Given the description of an element on the screen output the (x, y) to click on. 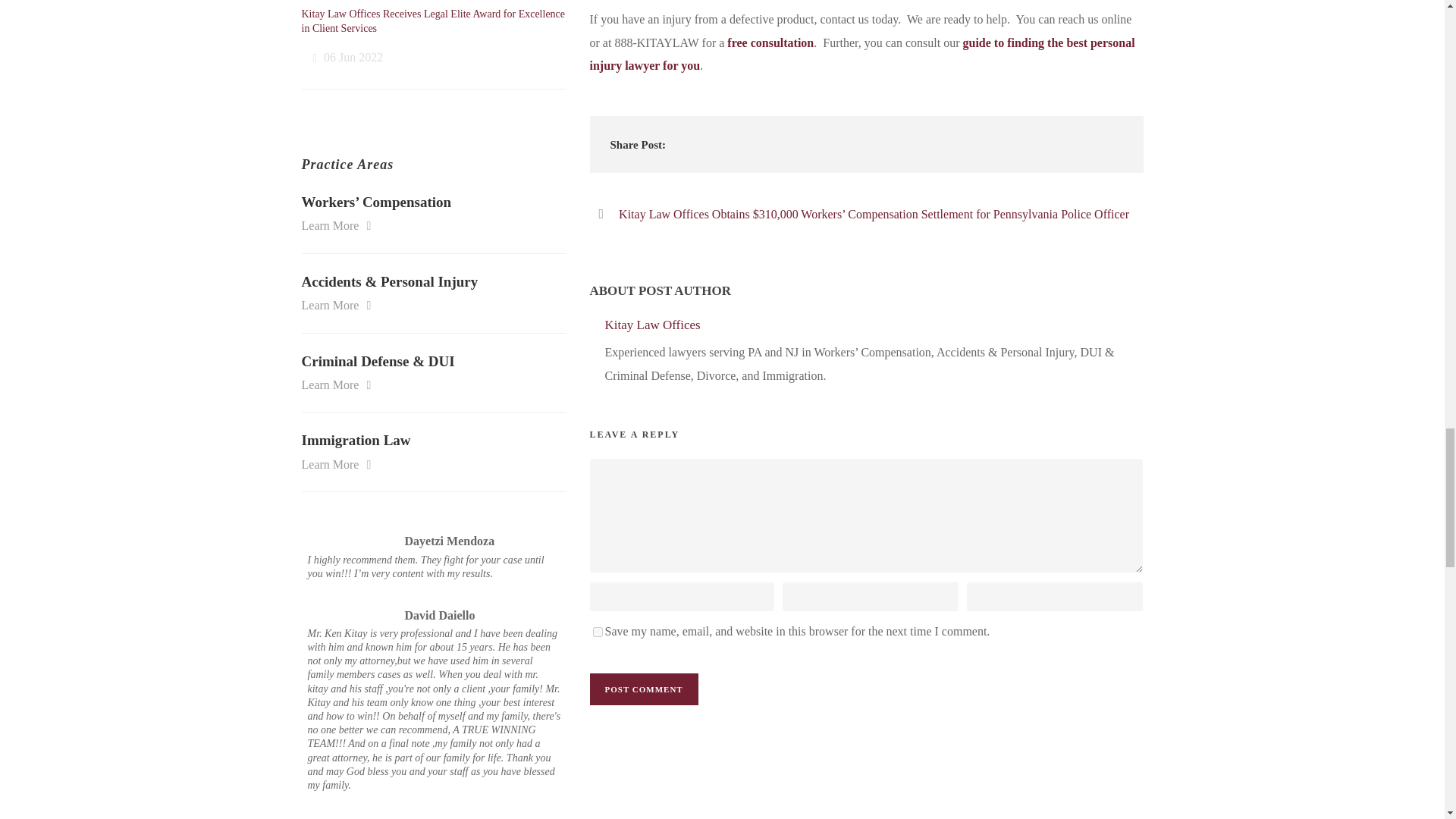
Post Comment (643, 689)
yes (597, 632)
